Given the description of an element on the screen output the (x, y) to click on. 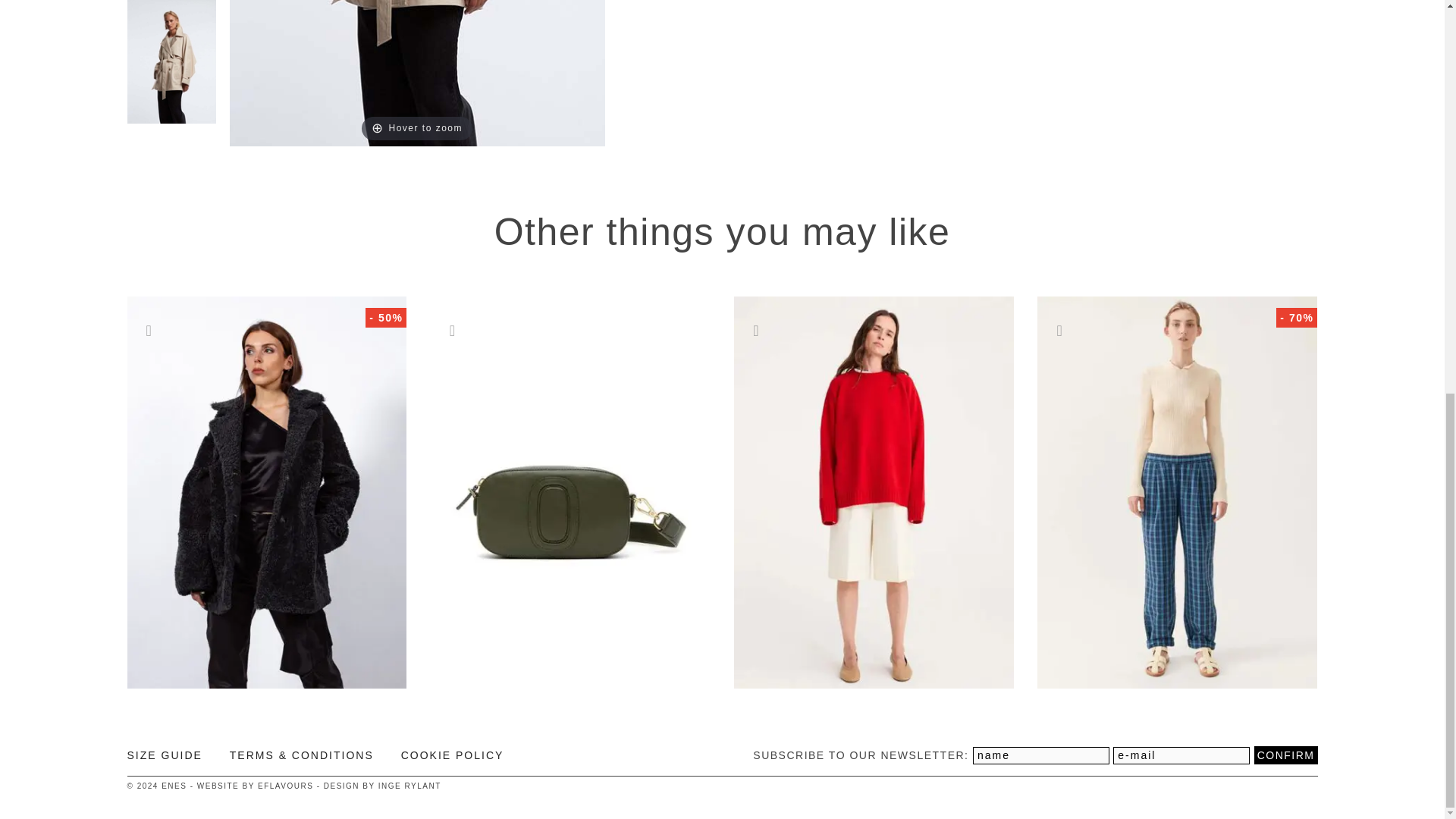
eFlavours (285, 786)
CONFIRM (1285, 755)
